Given the description of an element on the screen output the (x, y) to click on. 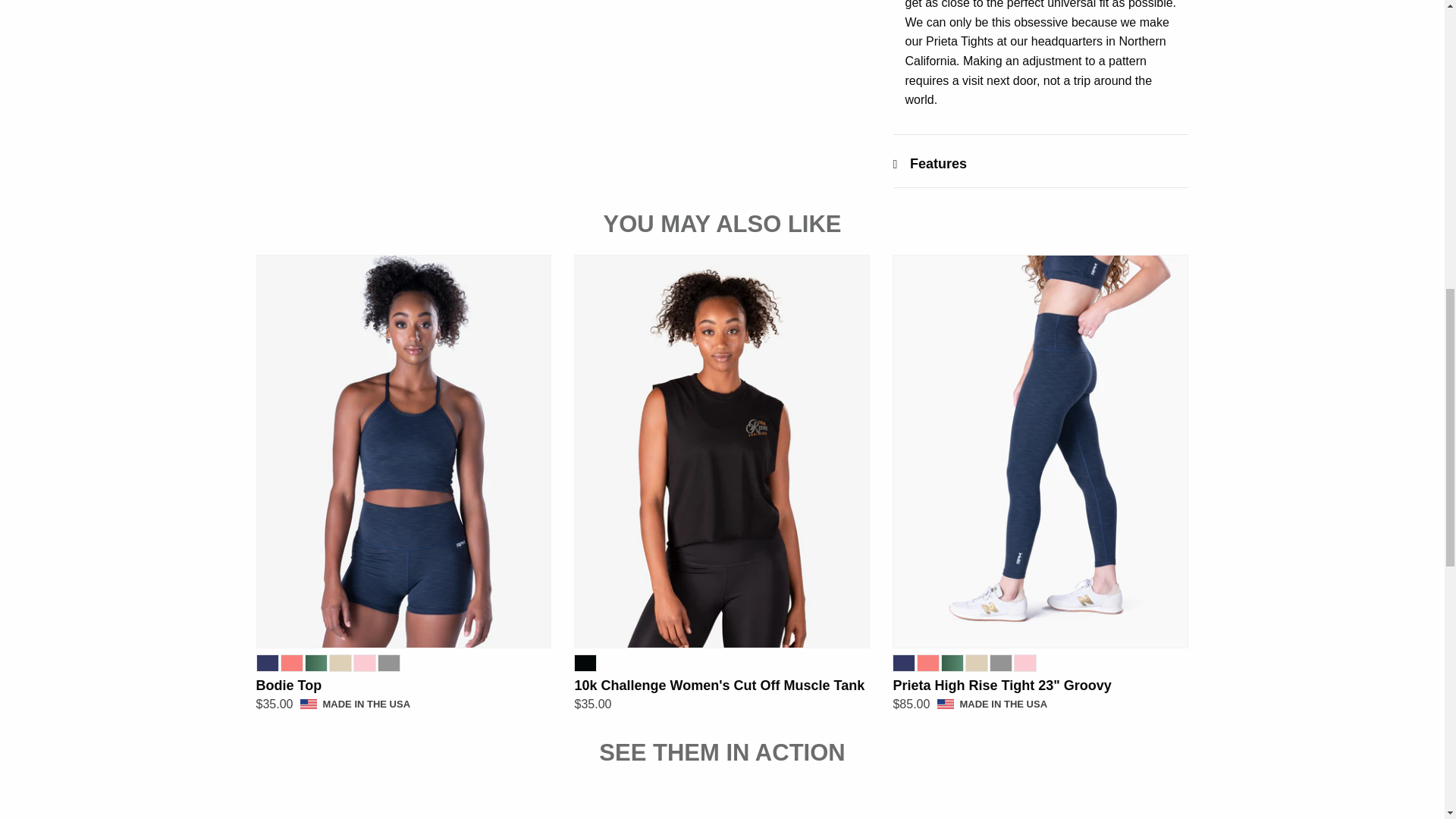
EmbedSocial Universal Widget (722, 806)
